Given the description of an element on the screen output the (x, y) to click on. 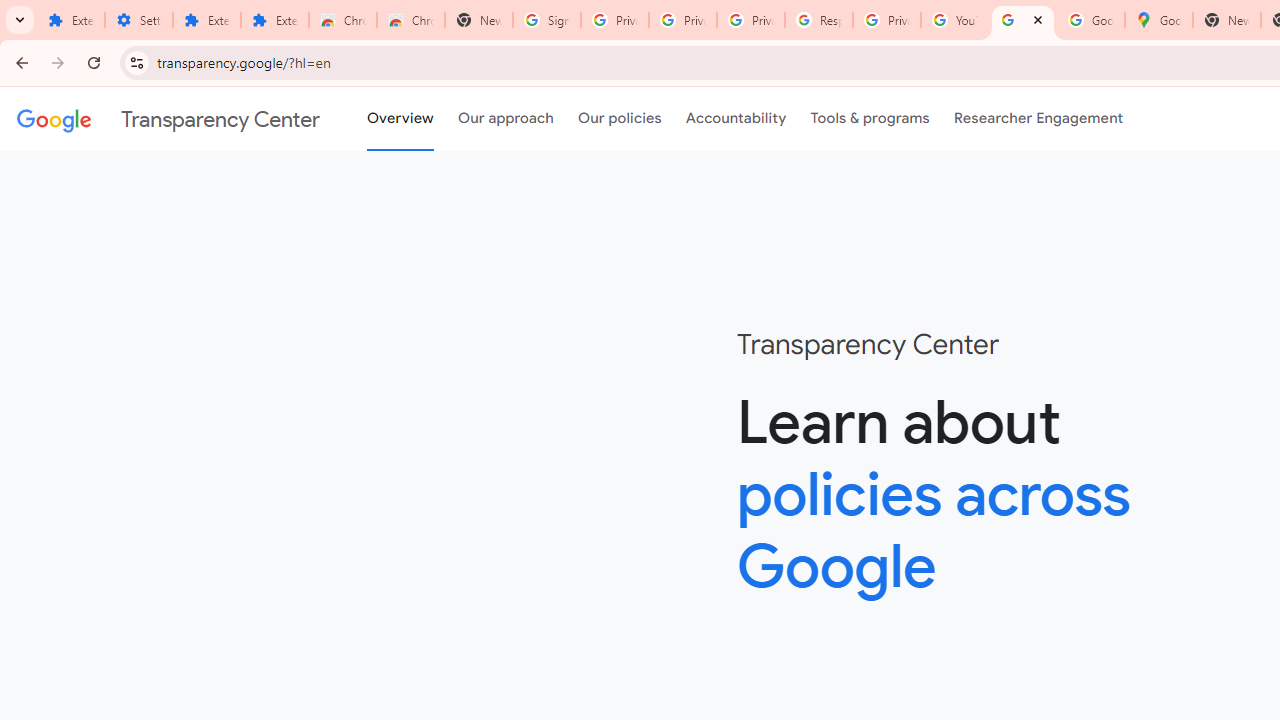
Our approach (506, 119)
New Tab (1226, 20)
Accountability (735, 119)
Researcher Engagement (1038, 119)
Extensions (206, 20)
Google Maps (1158, 20)
Chrome Web Store (342, 20)
